Given the description of an element on the screen output the (x, y) to click on. 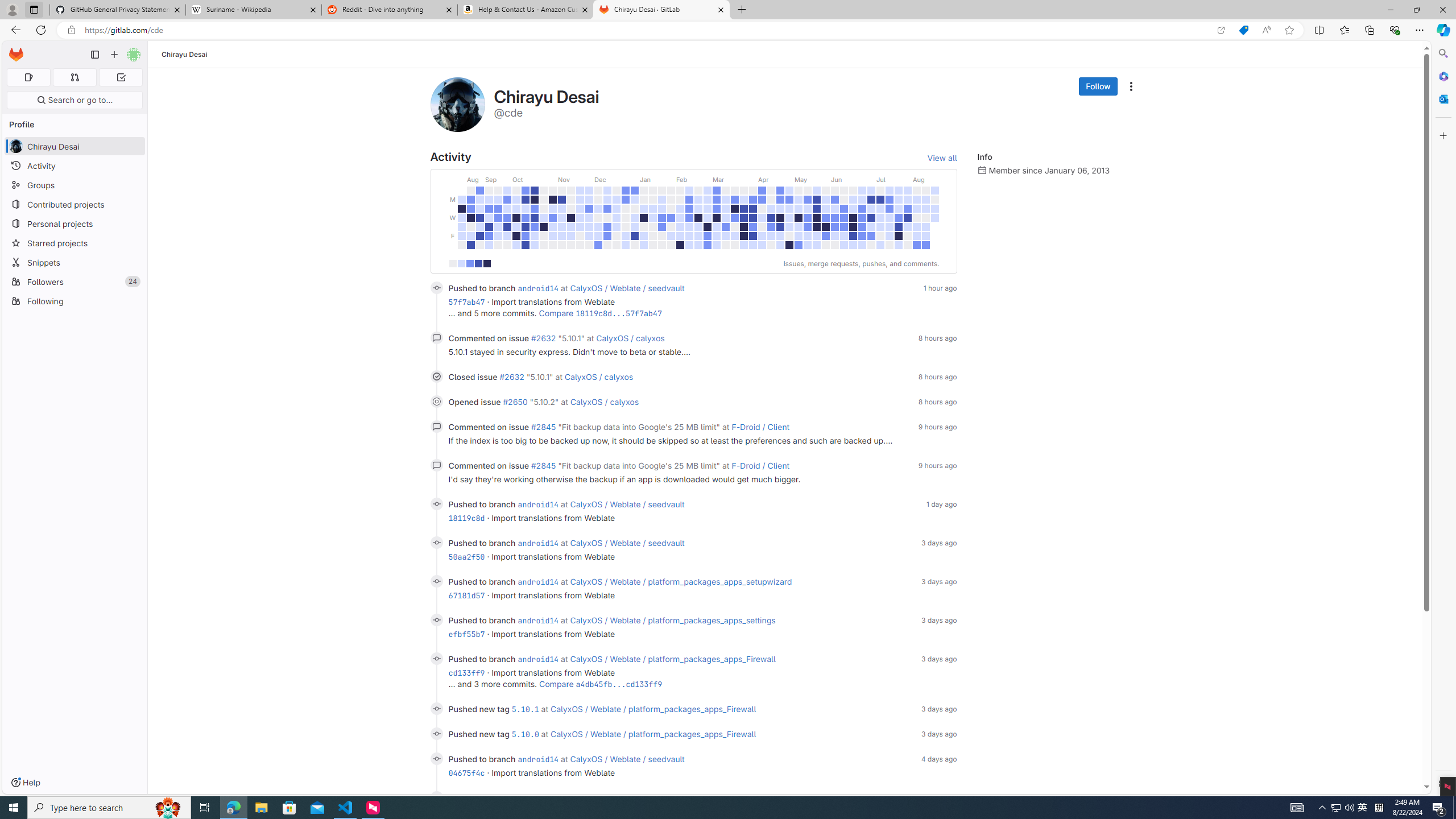
Compare 18119c8d...57f7ab47 (600, 312)
To-Do list 0 (120, 76)
18119c8d (466, 517)
avatar (15, 146)
